Given the description of an element on the screen output the (x, y) to click on. 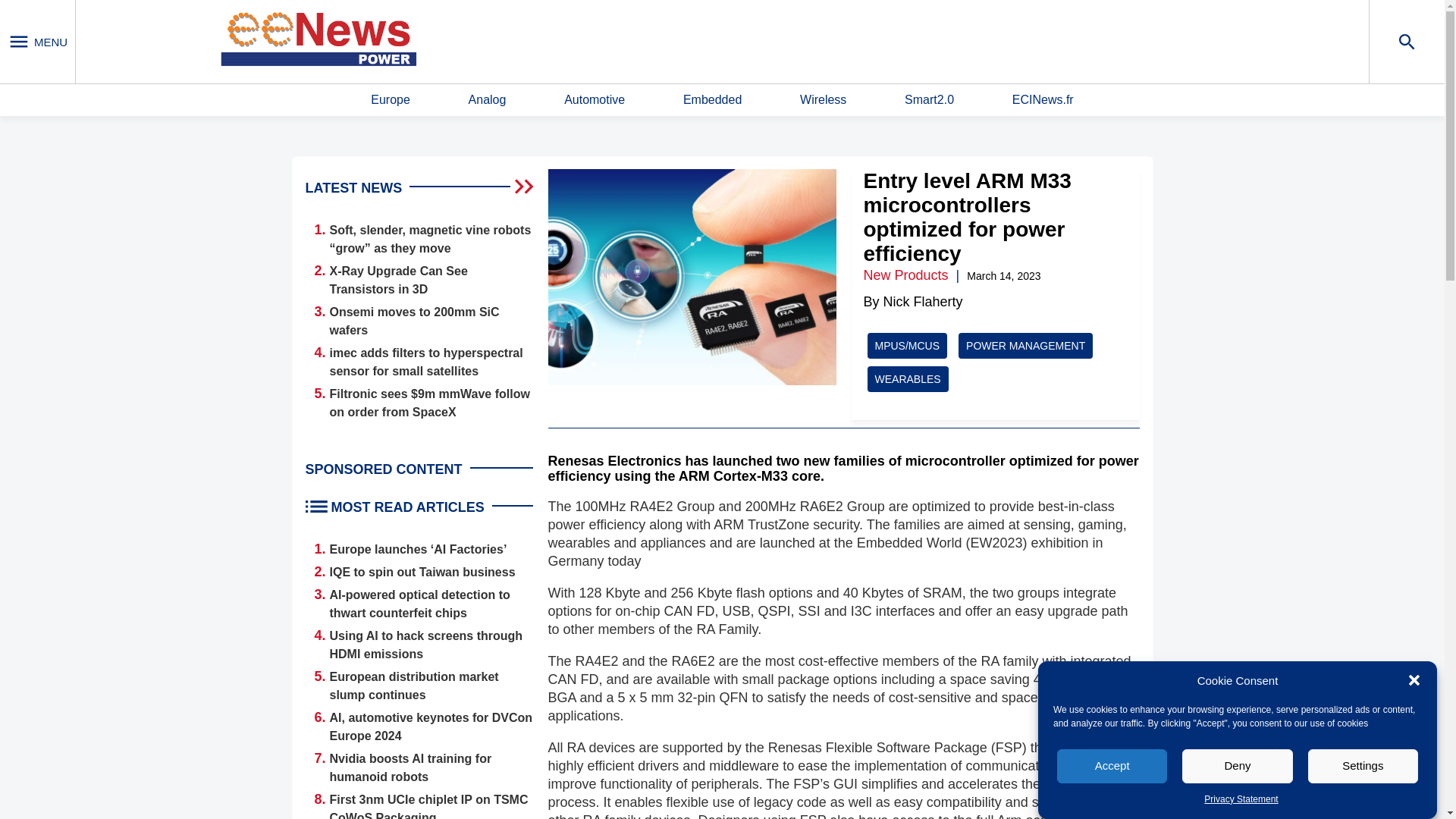
Smart2.0 (928, 99)
ECINews.fr (1042, 99)
Embedded (711, 99)
Automotive (594, 99)
Analog (487, 99)
Wireless (822, 99)
Europe (390, 99)
